Given the description of an element on the screen output the (x, y) to click on. 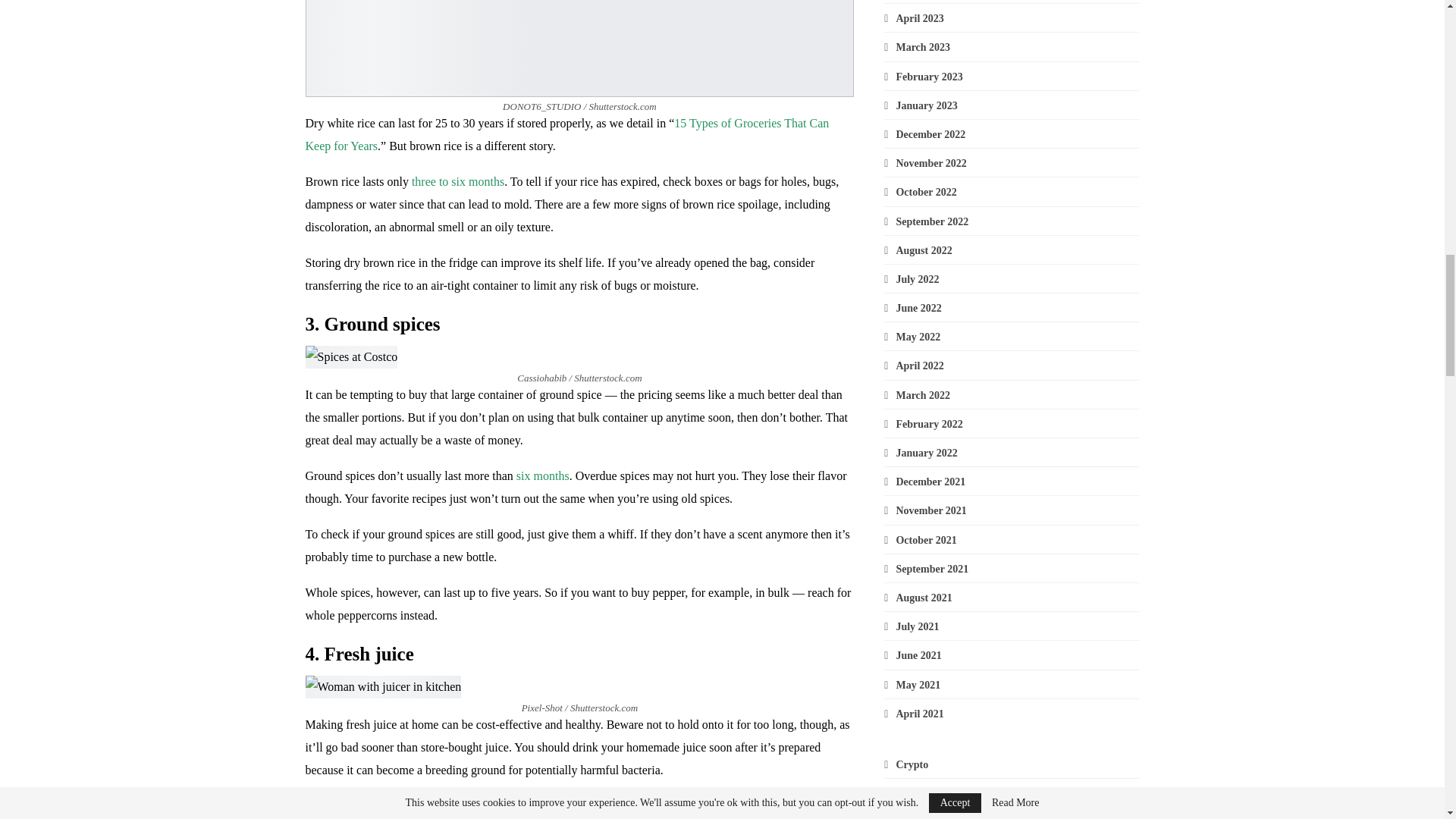
Most store-bought juice is pasteurized (396, 805)
three to six months (457, 181)
six months (542, 475)
15 Types of Groceries That Can Keep for Years (566, 134)
